Given the description of an element on the screen output the (x, y) to click on. 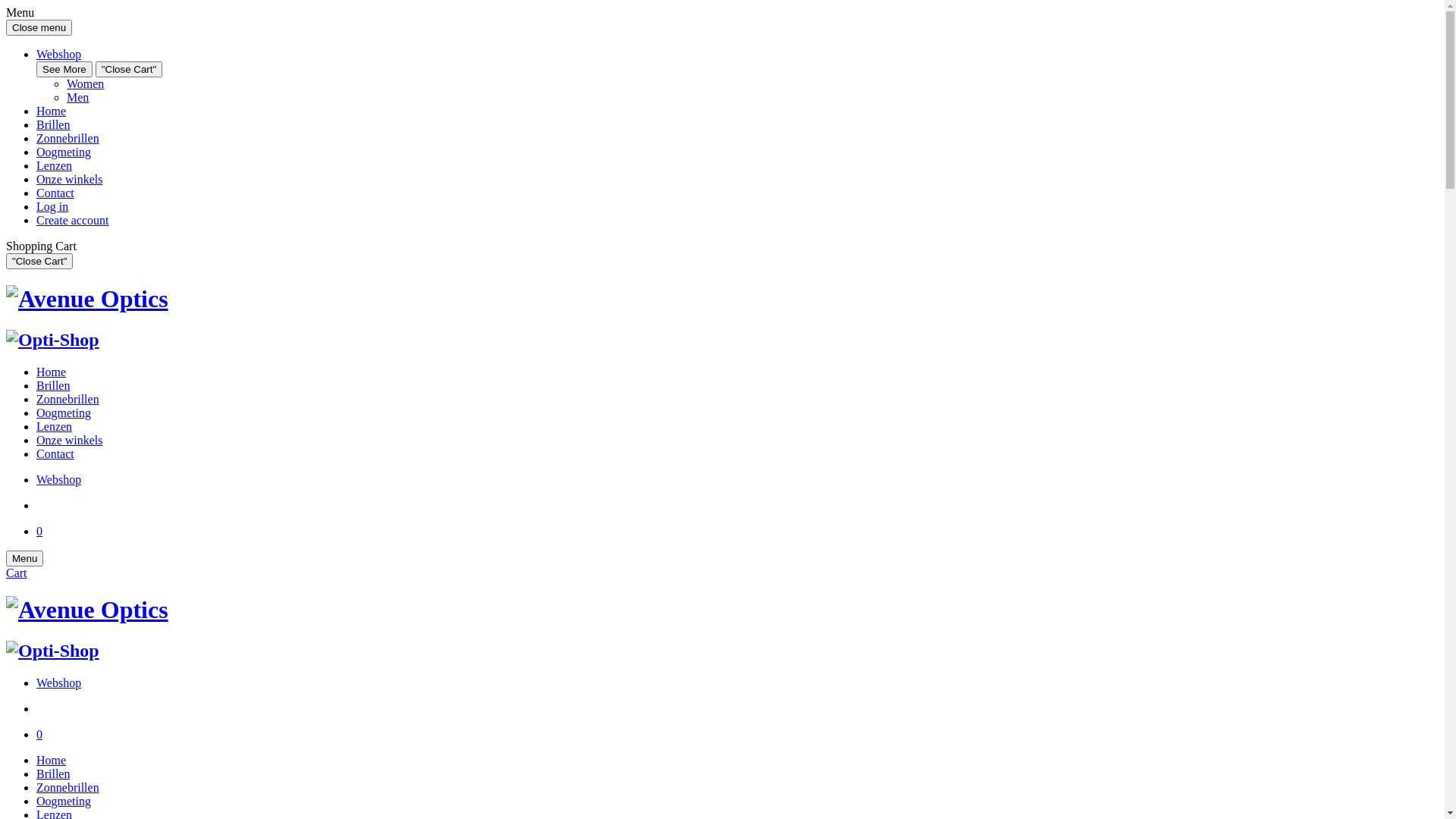
Brillen Element type: text (52, 385)
Contact Element type: text (55, 192)
Home Element type: text (50, 110)
Home Element type: text (50, 759)
Log in Element type: text (52, 206)
"Close Cart" Element type: text (128, 69)
Oogmeting Element type: text (63, 800)
Oogmeting Element type: text (63, 151)
Cart Element type: text (16, 572)
Contact Element type: text (55, 453)
Home Element type: text (50, 371)
Onze winkels Element type: text (69, 178)
0 Element type: text (39, 734)
Brillen Element type: text (52, 124)
Zonnebrillen Element type: text (67, 137)
Oogmeting Element type: text (63, 412)
Lenzen Element type: text (54, 165)
Close menu Element type: text (39, 27)
"Close Cart" Element type: text (39, 261)
Men Element type: text (77, 97)
Zonnebrillen Element type: text (67, 398)
Women Element type: text (84, 83)
Brillen Element type: text (52, 773)
Menu Element type: text (24, 558)
Create account Element type: text (72, 219)
Onze winkels Element type: text (69, 439)
0 Element type: text (39, 530)
Webshop Element type: text (58, 682)
See More Element type: text (64, 69)
Webshop Element type: text (58, 53)
Lenzen Element type: text (54, 426)
Webshop Element type: text (58, 479)
Zonnebrillen Element type: text (67, 787)
